Given the description of an element on the screen output the (x, y) to click on. 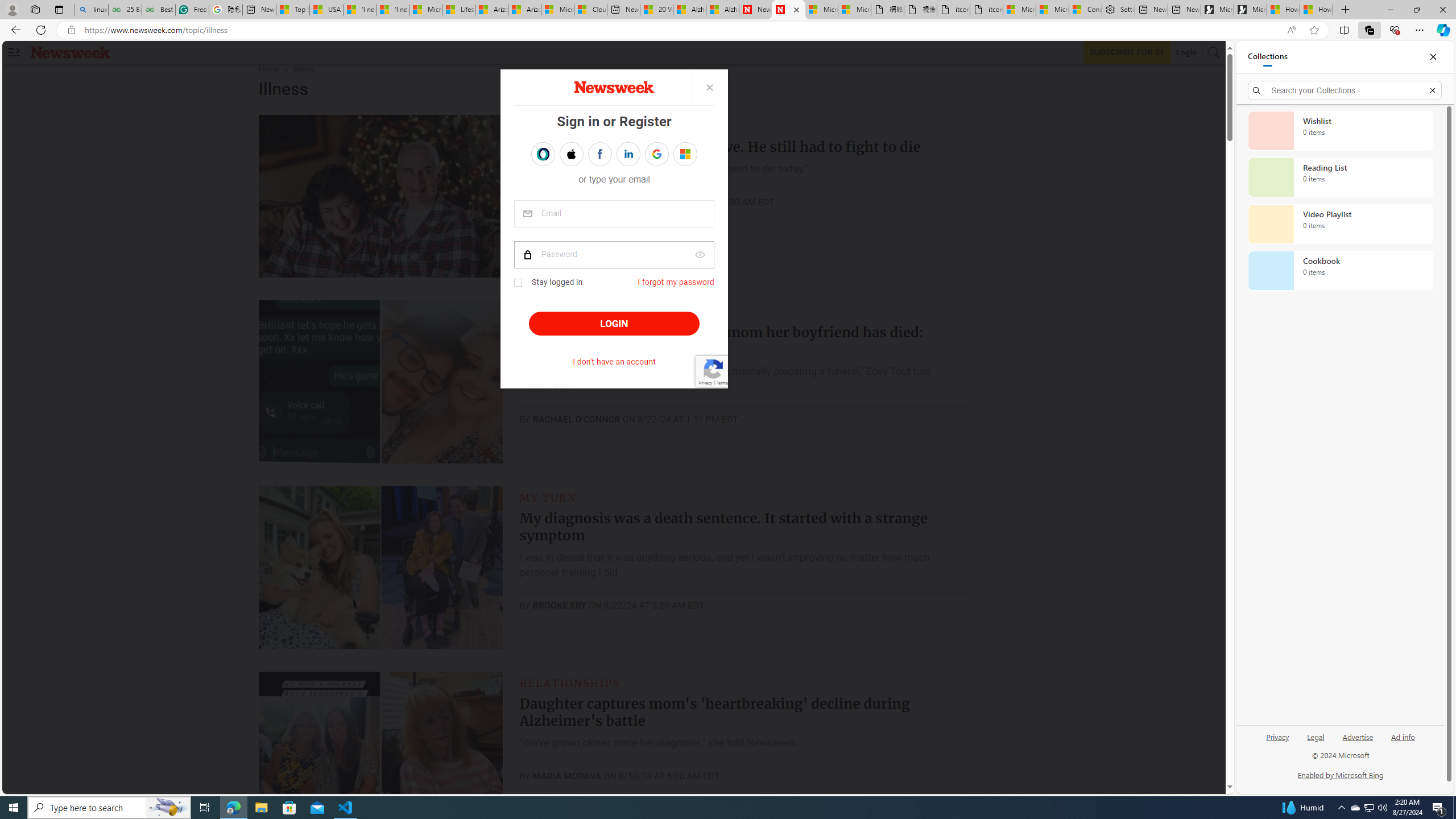
How to Use a TV as a Computer Monitor (1316, 9)
Cloud Computing Services | Microsoft Azure (590, 9)
email (613, 213)
AutomationID: side-arrow (13, 51)
Illness news & latest pictures from Newsweek.com (788, 9)
